Given the description of an element on the screen output the (x, y) to click on. 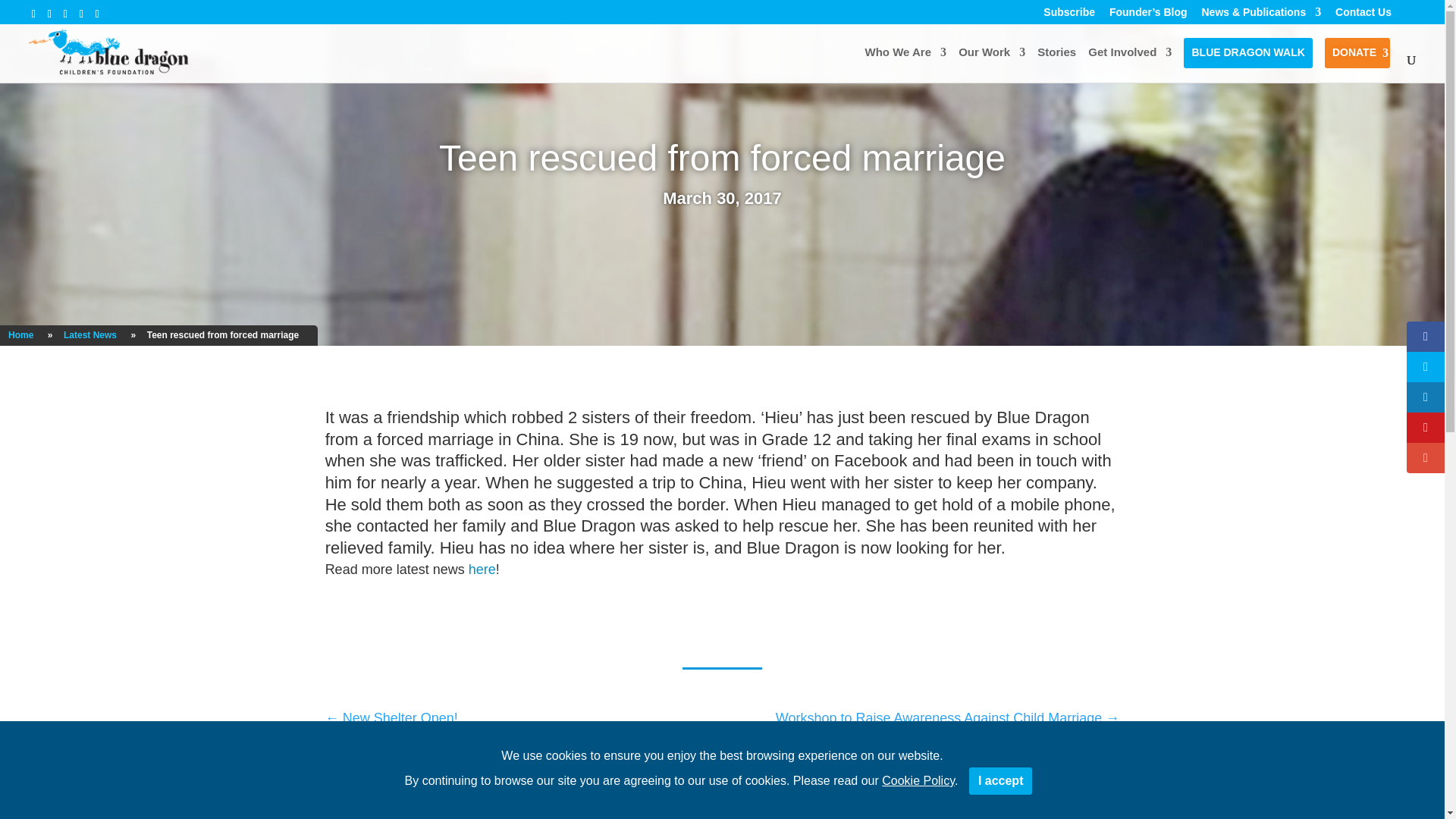
Subscribe (1068, 12)
Who We Are (905, 63)
Our Work (991, 63)
Stories (1055, 63)
Search (968, 768)
Contact Us (1363, 12)
Get Involved (1129, 63)
Search (968, 768)
